Given the description of an element on the screen output the (x, y) to click on. 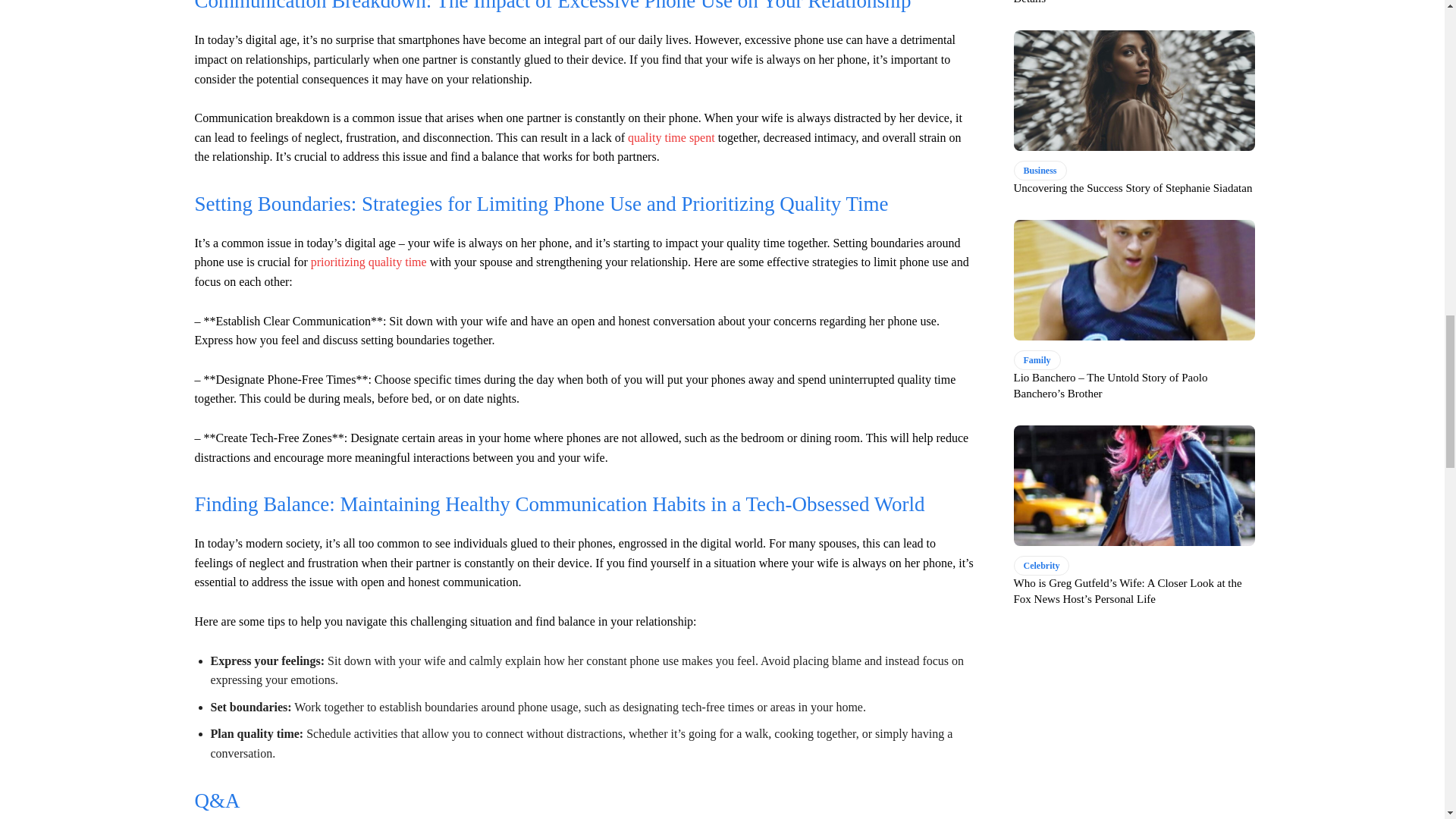
Understanding the Relationship Between Becca and Thomas (670, 137)
